Given the description of an element on the screen output the (x, y) to click on. 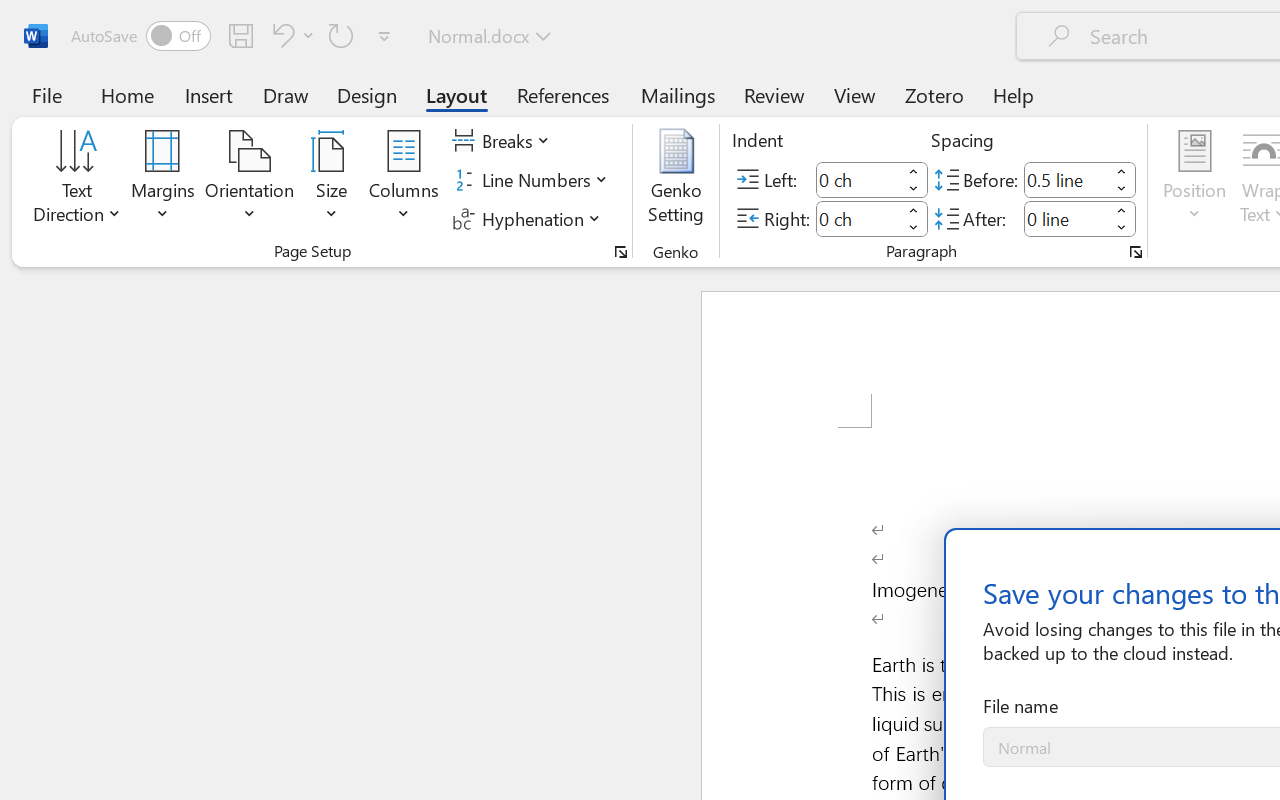
Repeat Paragraph Formatting (341, 35)
Margins (163, 179)
Columns (404, 179)
Hyphenation (529, 218)
Orientation (250, 179)
Less (1121, 227)
Undo Paragraph Formatting (280, 35)
Genko Setting... (676, 179)
Text Direction (77, 179)
